Given the description of an element on the screen output the (x, y) to click on. 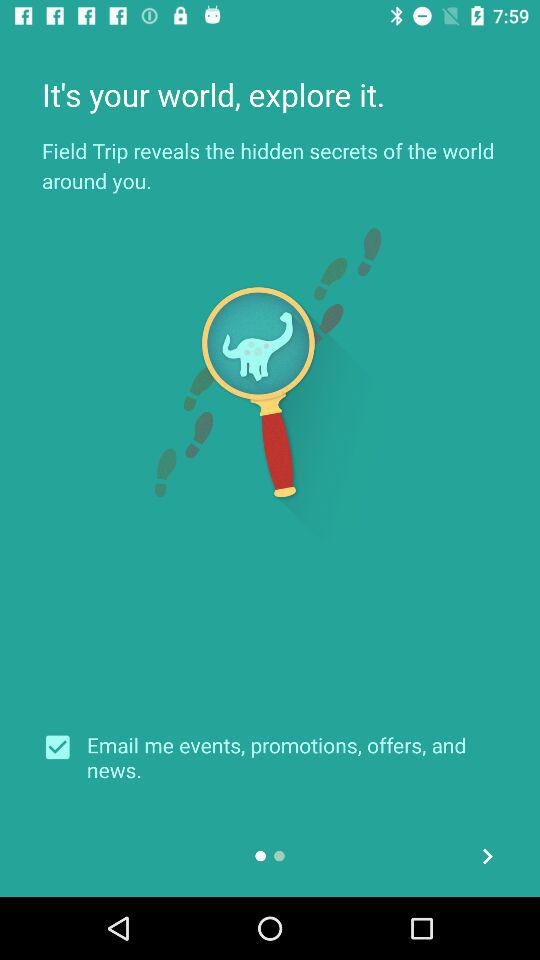
select icon at the bottom right corner (487, 856)
